Given the description of an element on the screen output the (x, y) to click on. 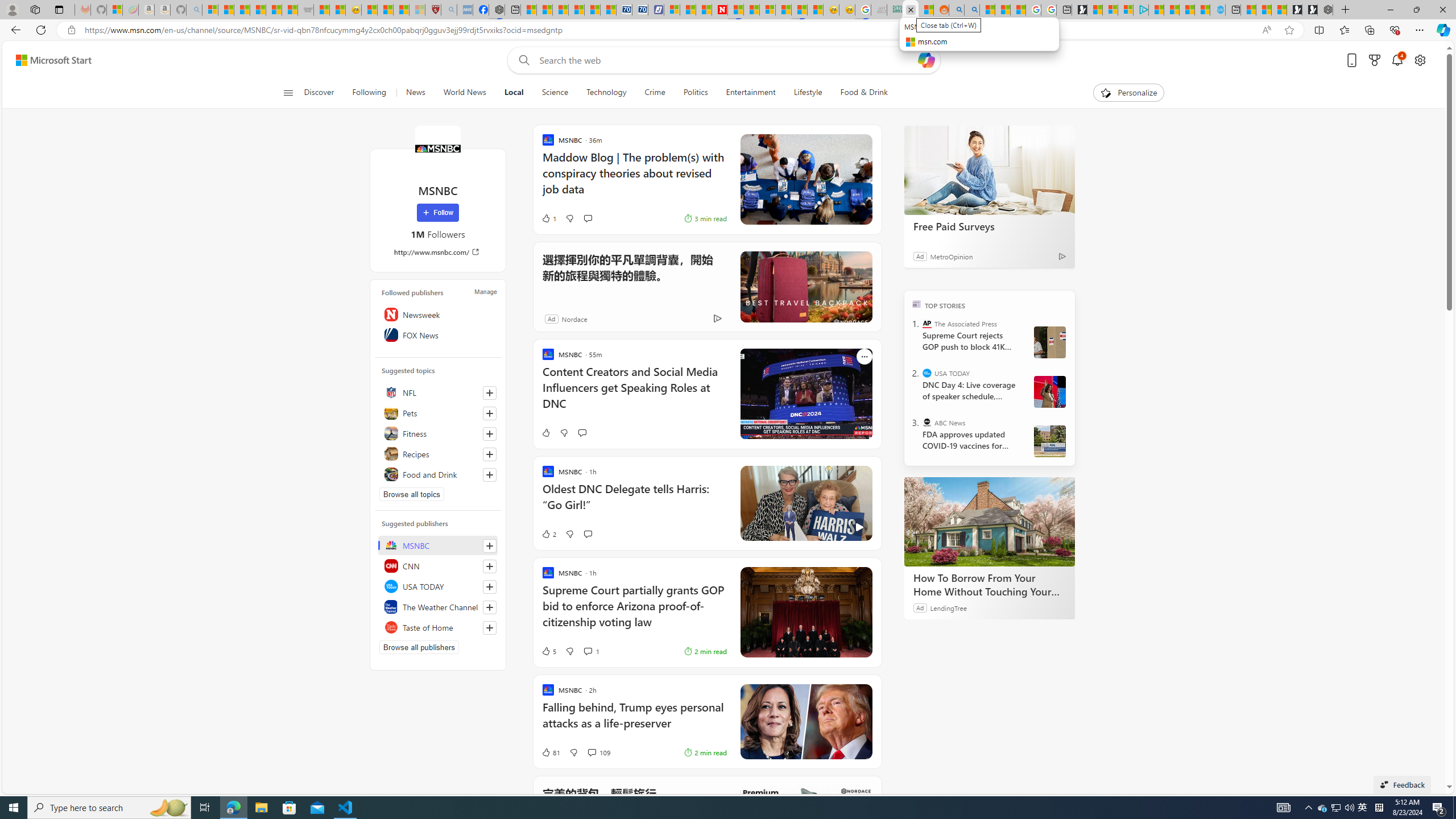
How To Borrow From Your Home Without Touching Your Mortgage (989, 521)
World News (464, 92)
Fitness (437, 433)
Manage (485, 291)
MSNBC (437, 545)
NFL (437, 392)
Cheap Car Rentals - Save70.com (624, 9)
